Given the description of an element on the screen output the (x, y) to click on. 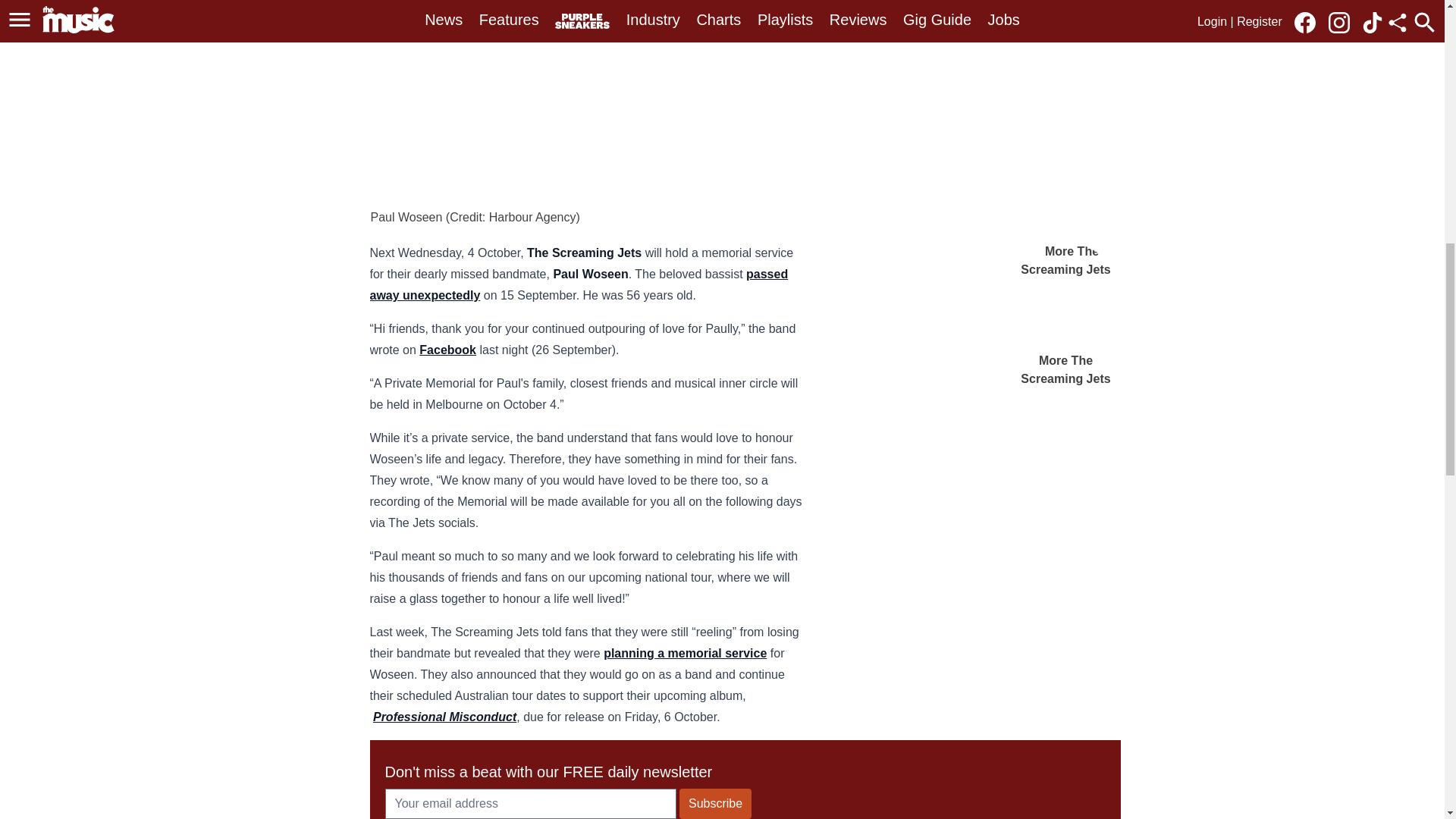
passed away unexpectedly (579, 284)
planning a memorial service (685, 653)
Facebook (447, 349)
More The Screaming Jets (1066, 315)
Professional Misconduct (444, 716)
Subscribe (715, 803)
